Given the description of an element on the screen output the (x, y) to click on. 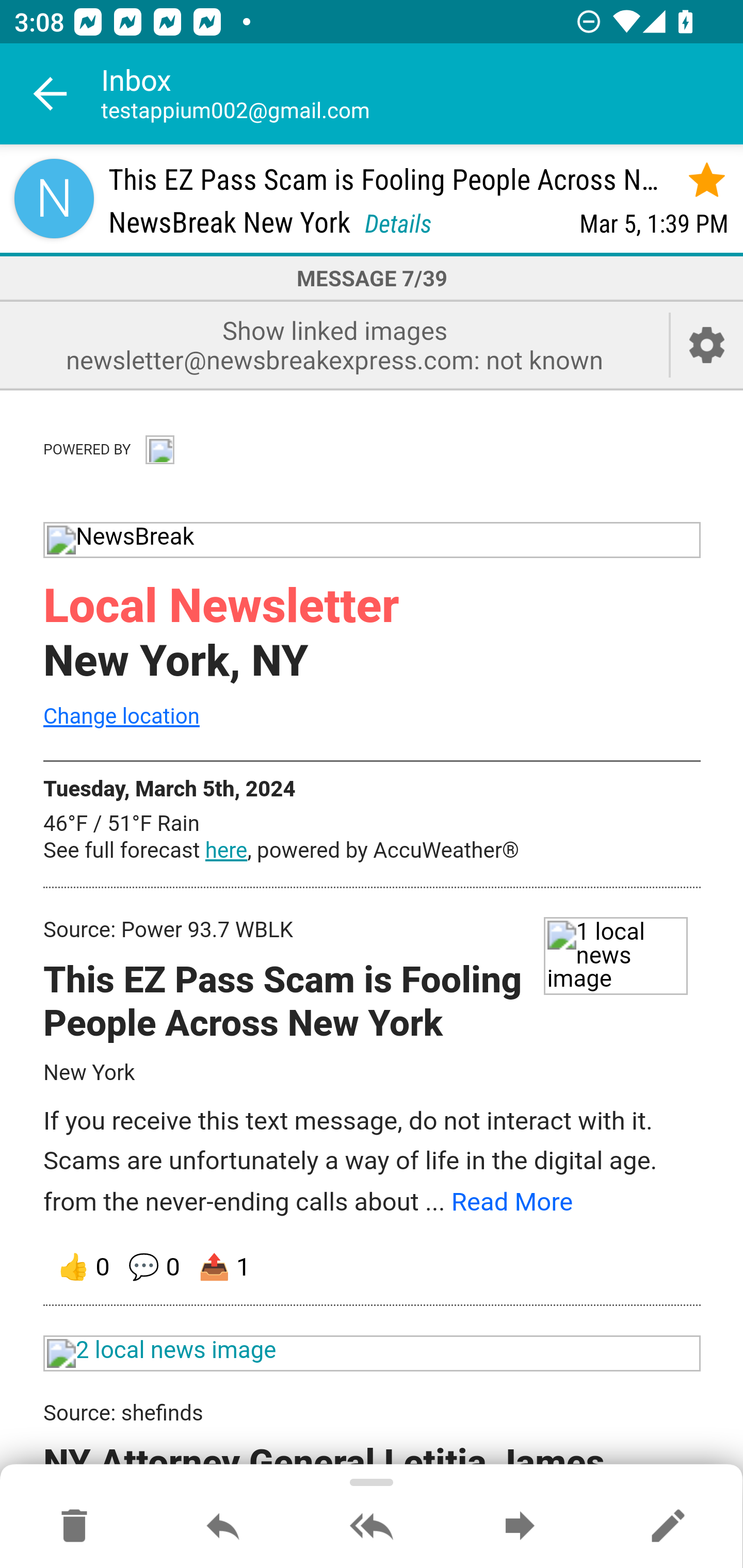
Navigate up (50, 93)
Inbox testappium002@gmail.com (422, 93)
Sender contact button (53, 198)
Account setup (706, 344)
info (159, 447)
Change location (121, 715)
here (225, 850)
👍 0   💬 0   📤 1 (372, 1267)
2 local news image (372, 1353)
Move to Deleted (74, 1527)
Reply (222, 1527)
Reply all (371, 1527)
Forward (519, 1527)
Reply as new (667, 1527)
